Given the description of an element on the screen output the (x, y) to click on. 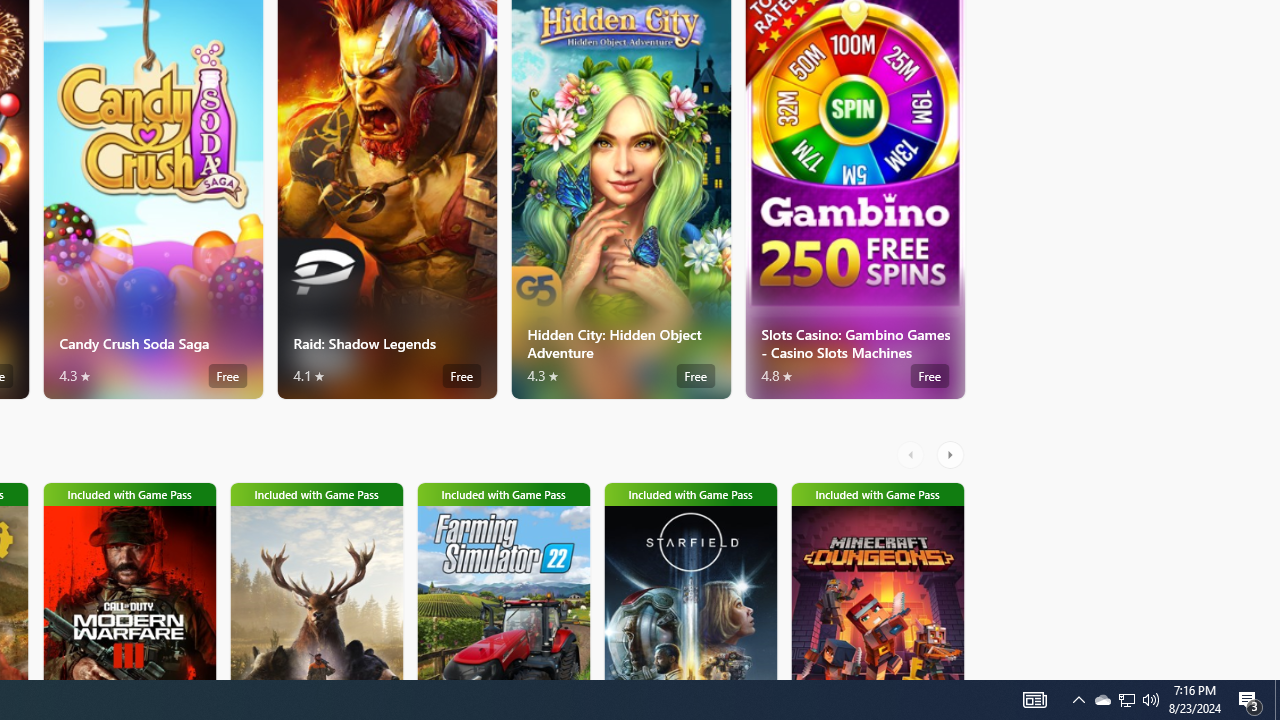
AutomationID: LeftScrollButton (913, 454)
AutomationID: RightScrollButton (952, 454)
